Given the description of an element on the screen output the (x, y) to click on. 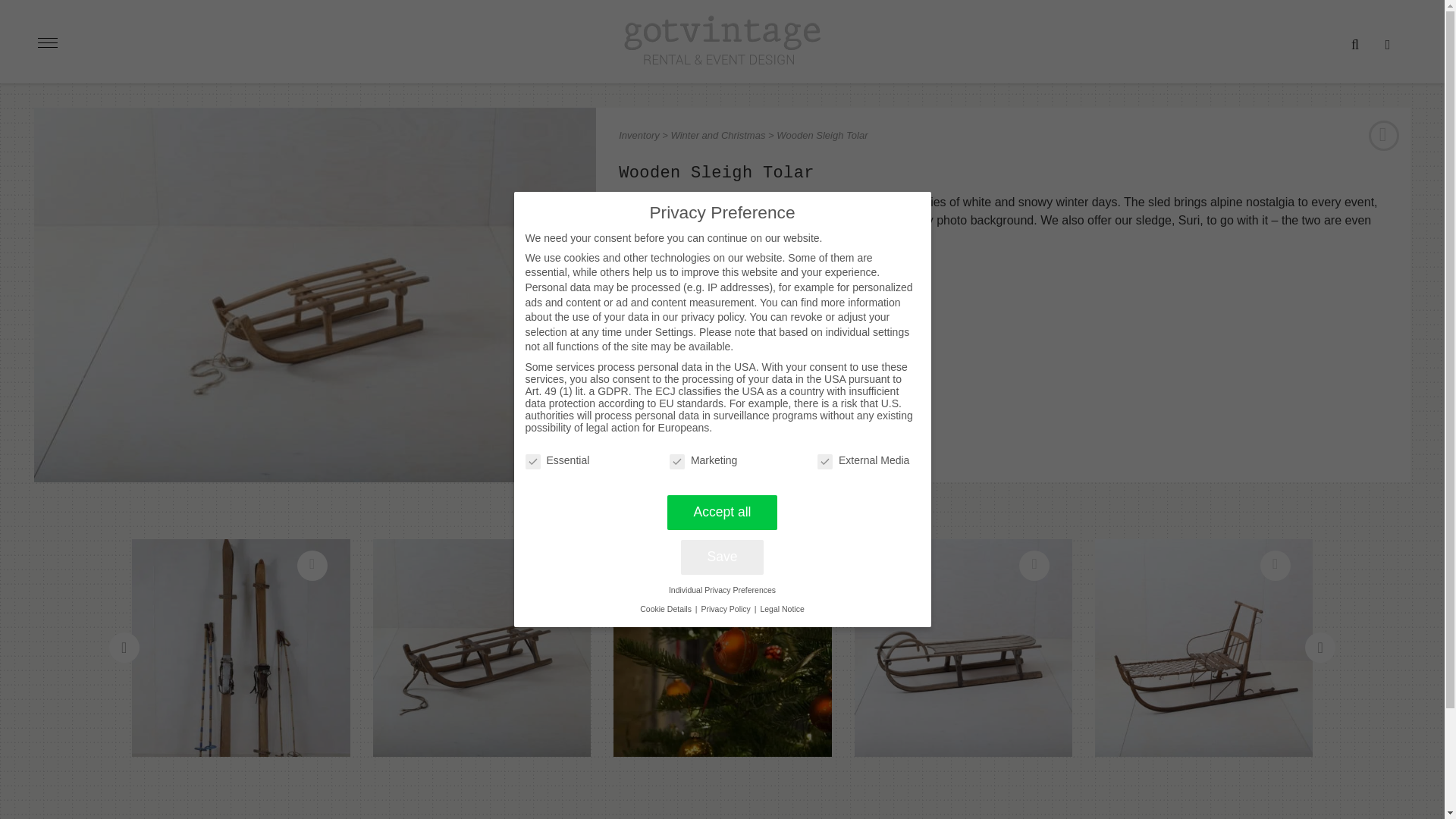
Wooden Ski Virgilio Vintage (241, 647)
Inventory (638, 134)
Wooden Sleigh Suri (481, 647)
Add to cart (658, 397)
Winter and Christmas (718, 134)
